Given the description of an element on the screen output the (x, y) to click on. 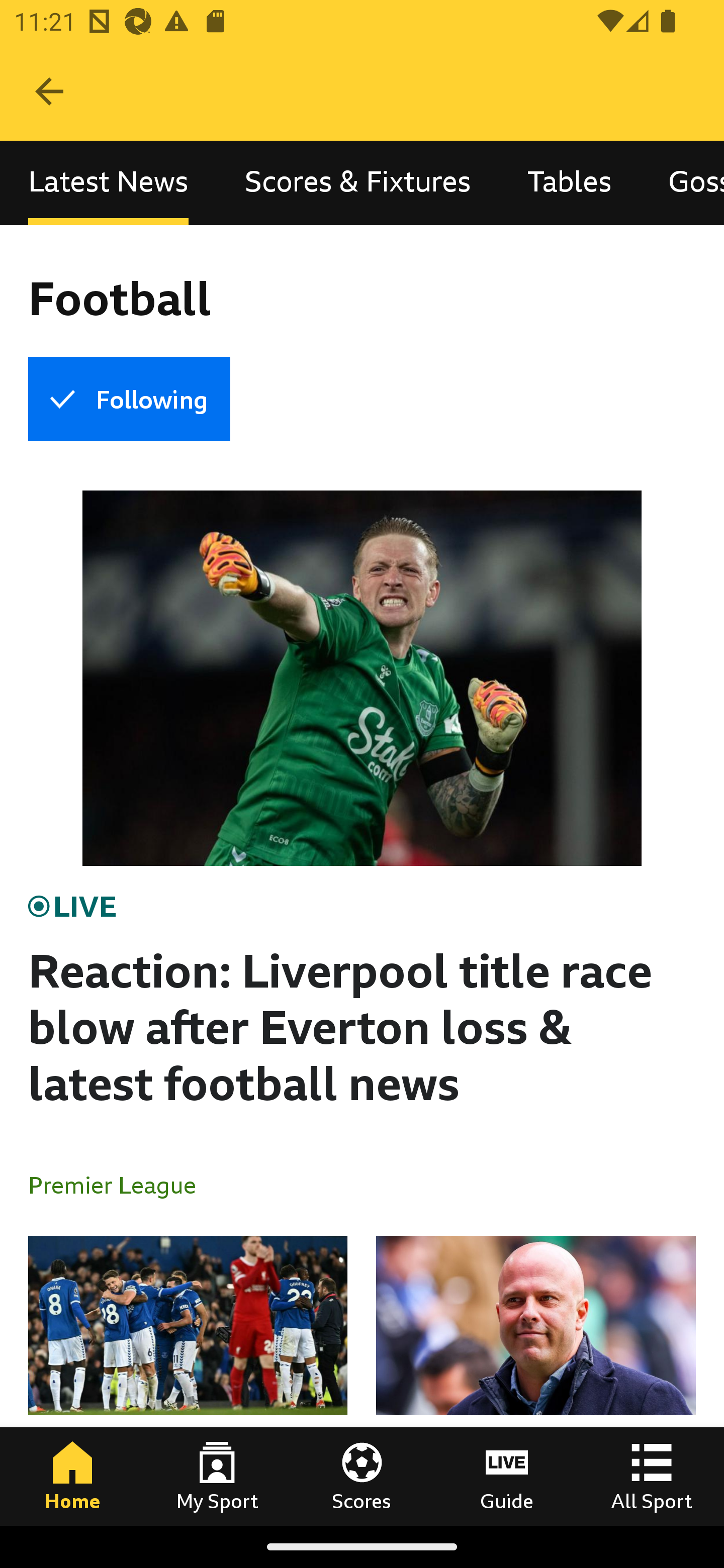
Navigate up (49, 91)
Latest News, selected Latest News (108, 183)
Scores & Fixtures (357, 183)
Tables (569, 183)
Following Football Following (129, 398)
Premier League In the section Premier League (119, 1184)
Slot philosophy could suit Liverpool - Van Dijk (535, 1380)
My Sport (216, 1475)
Scores (361, 1475)
Guide (506, 1475)
All Sport (651, 1475)
